Given the description of an element on the screen output the (x, y) to click on. 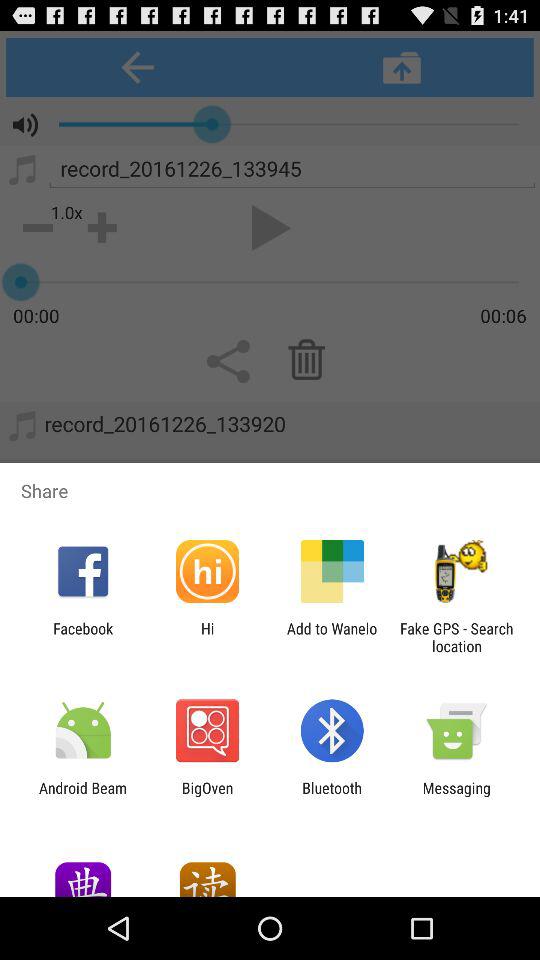
select messaging item (456, 796)
